Given the description of an element on the screen output the (x, y) to click on. 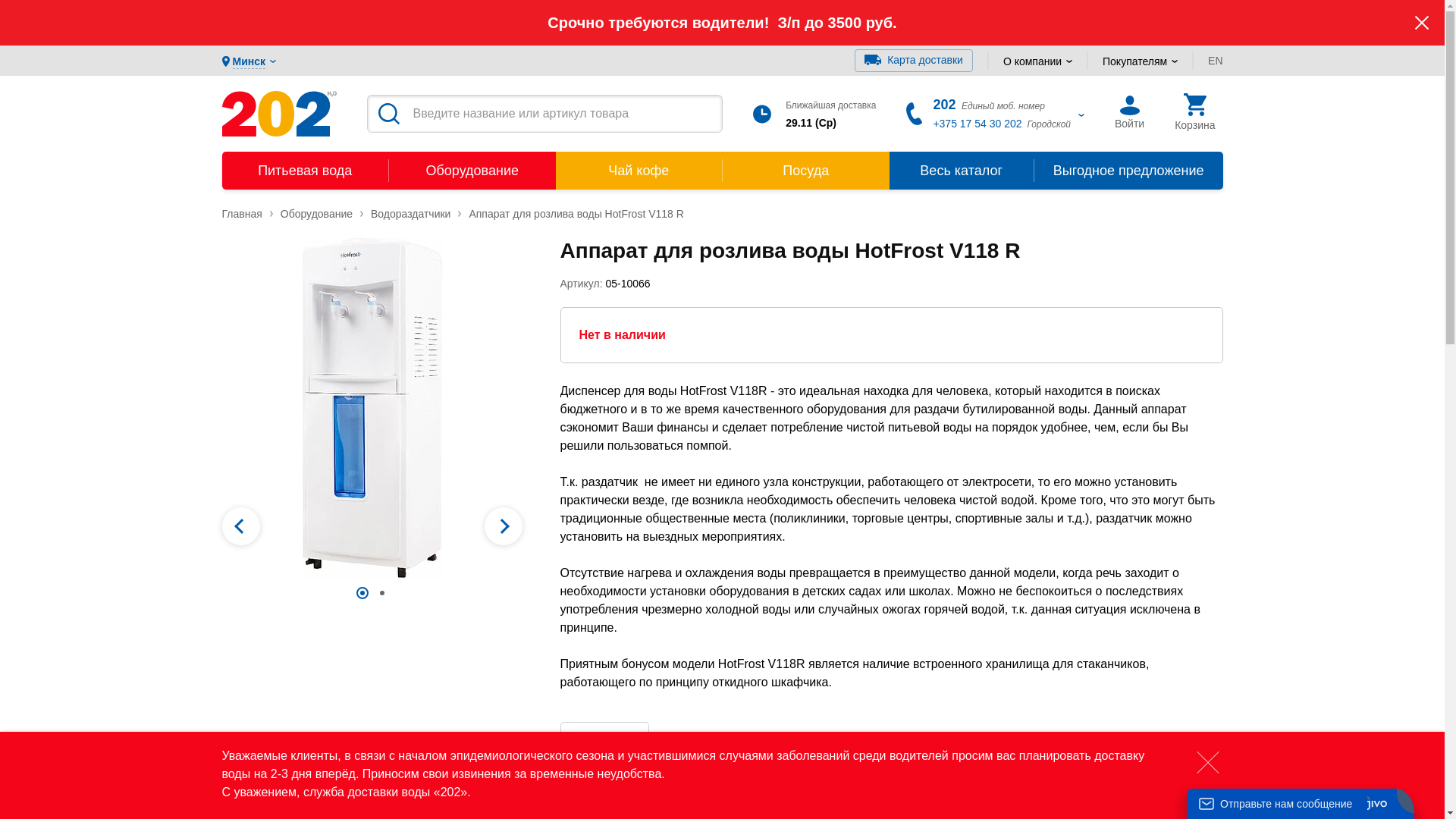
EN Element type: text (1215, 60)
1 Element type: text (362, 592)
2 Element type: text (382, 592)
